Given the description of an element on the screen output the (x, y) to click on. 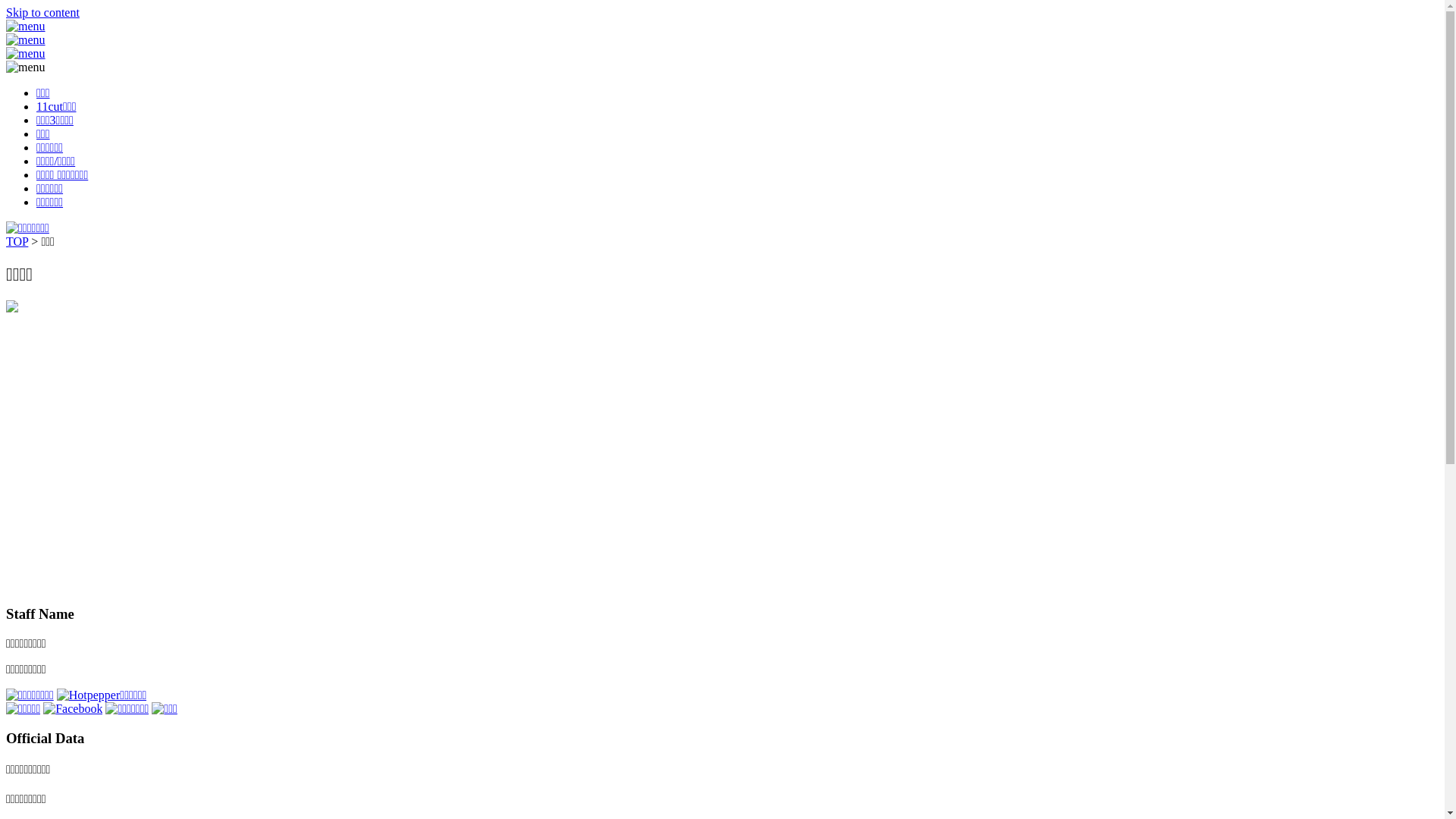
Skip to content Element type: text (42, 12)
TOP Element type: text (17, 241)
